Given the description of an element on the screen output the (x, y) to click on. 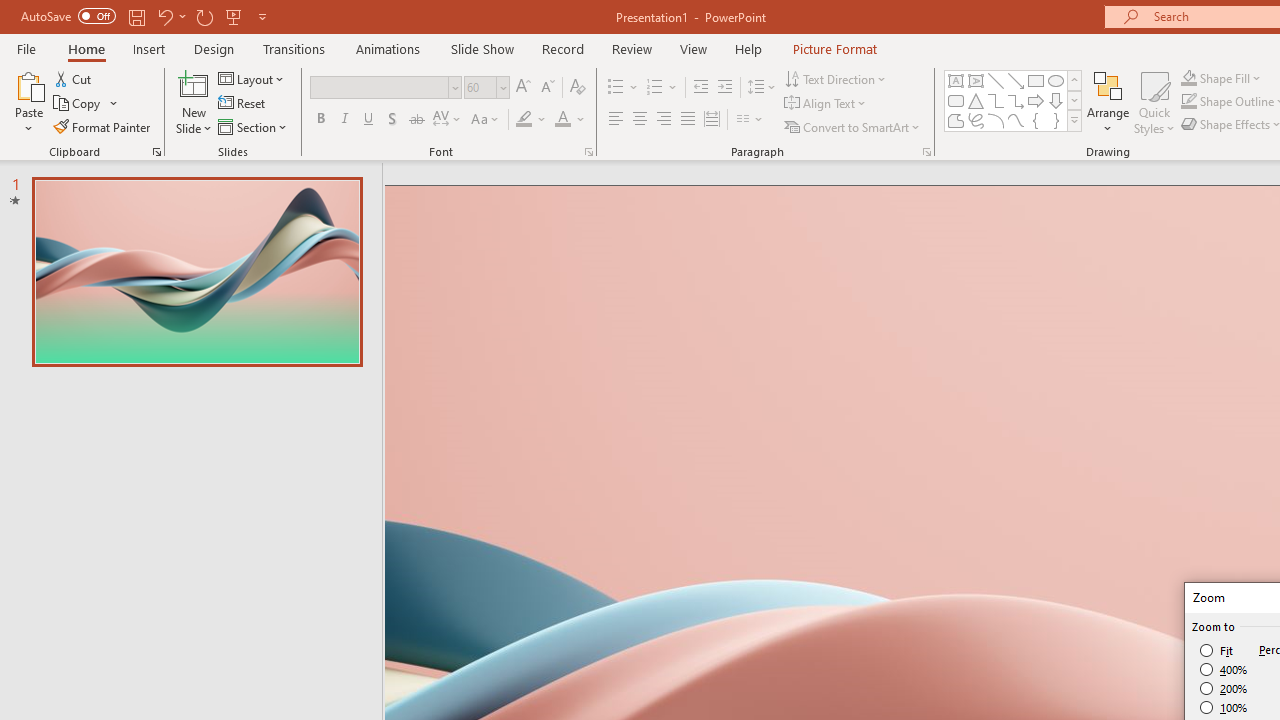
Connector: Elbow (995, 100)
Italic (344, 119)
Increase Font Size (522, 87)
Paragraph... (926, 151)
Change Case (486, 119)
Arrow: Right (1035, 100)
Bold (320, 119)
Office Clipboard... (156, 151)
Format Painter (103, 126)
